Given the description of an element on the screen output the (x, y) to click on. 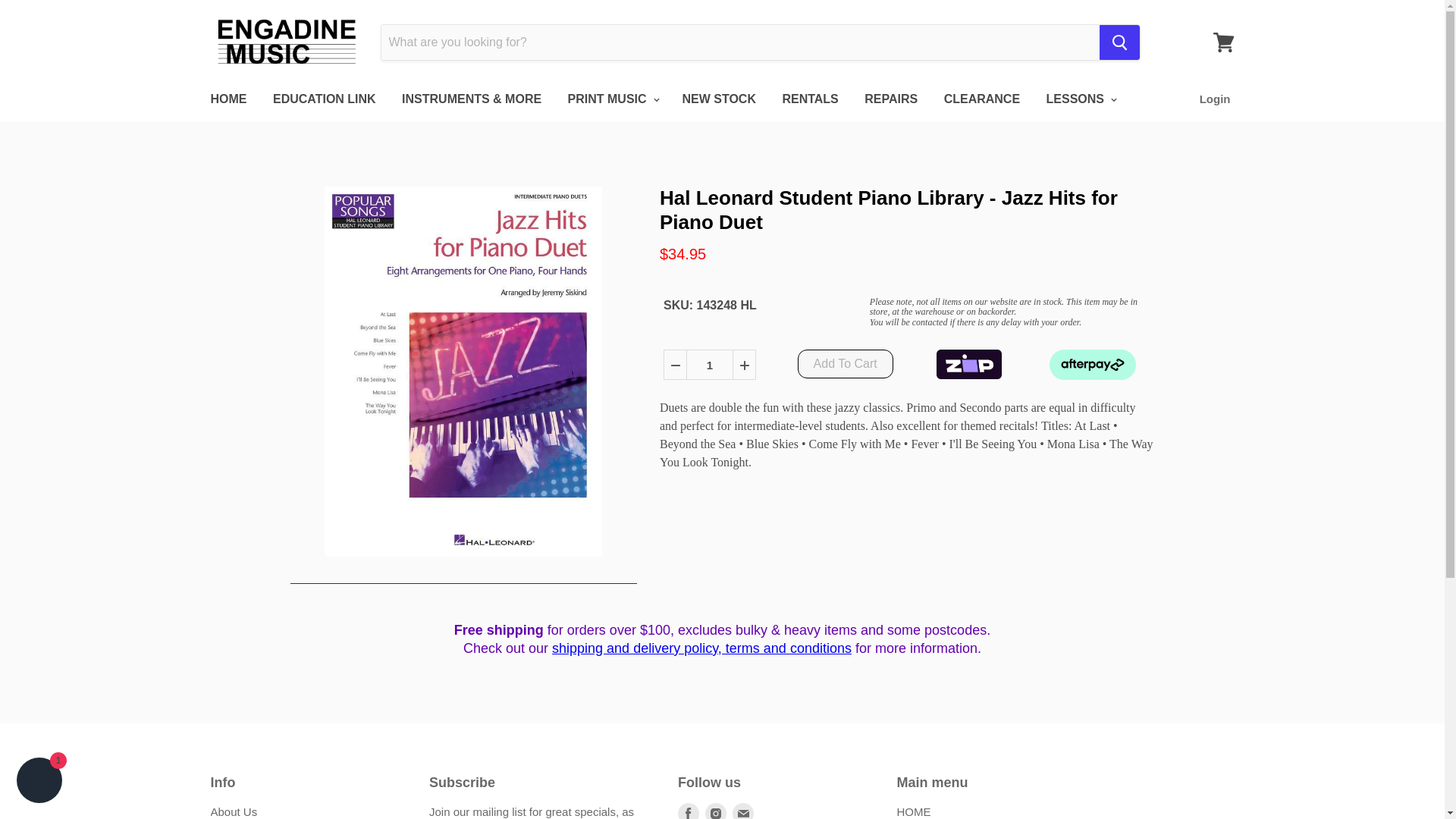
View cart (1223, 42)
PRINT MUSIC (611, 99)
1 (709, 365)
E-mail (743, 809)
Facebook (688, 809)
HOME (227, 99)
Shopify online store chat (38, 781)
EDUCATION LINK (324, 99)
Instagram (715, 809)
